Given the description of an element on the screen output the (x, y) to click on. 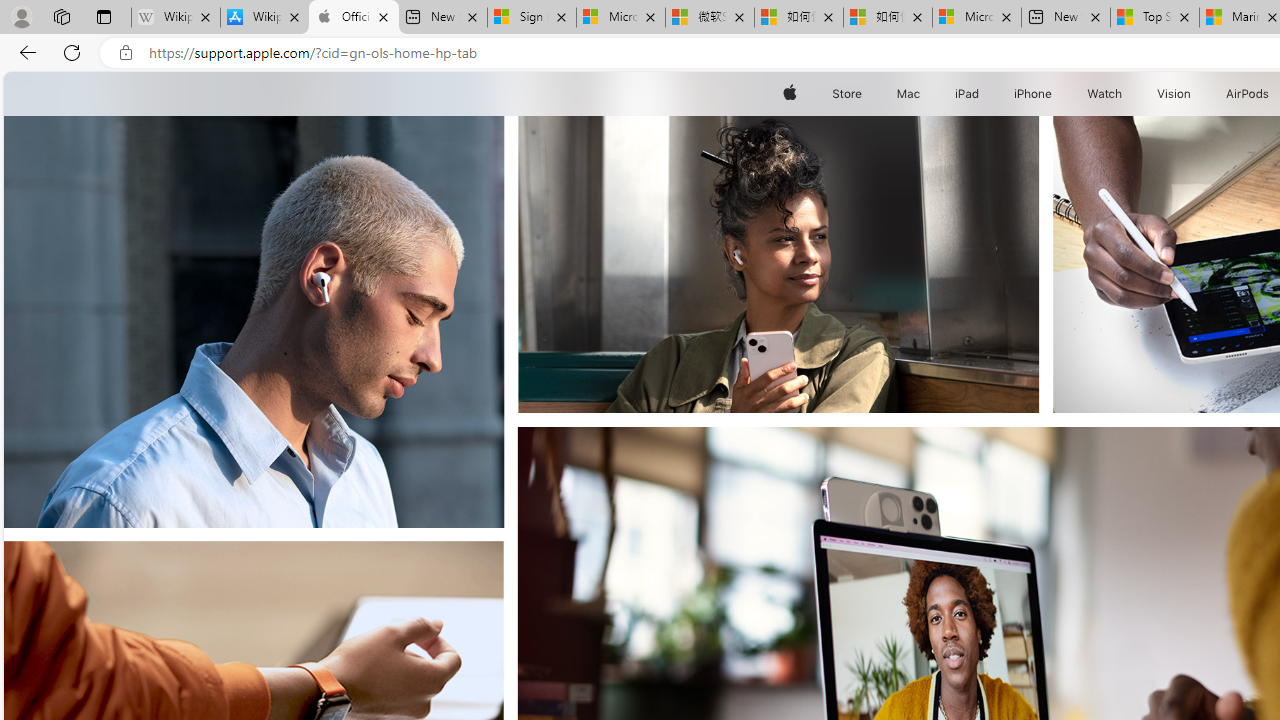
Apple (789, 93)
Apple (789, 93)
iPhone (1033, 93)
Vision (1174, 93)
Watch (1105, 93)
Store (846, 93)
Store menu (864, 93)
Watch menu (1125, 93)
Sign in to your Microsoft account (531, 17)
Top Stories - MSN (1155, 17)
Official Apple Support (353, 17)
